Given the description of an element on the screen output the (x, y) to click on. 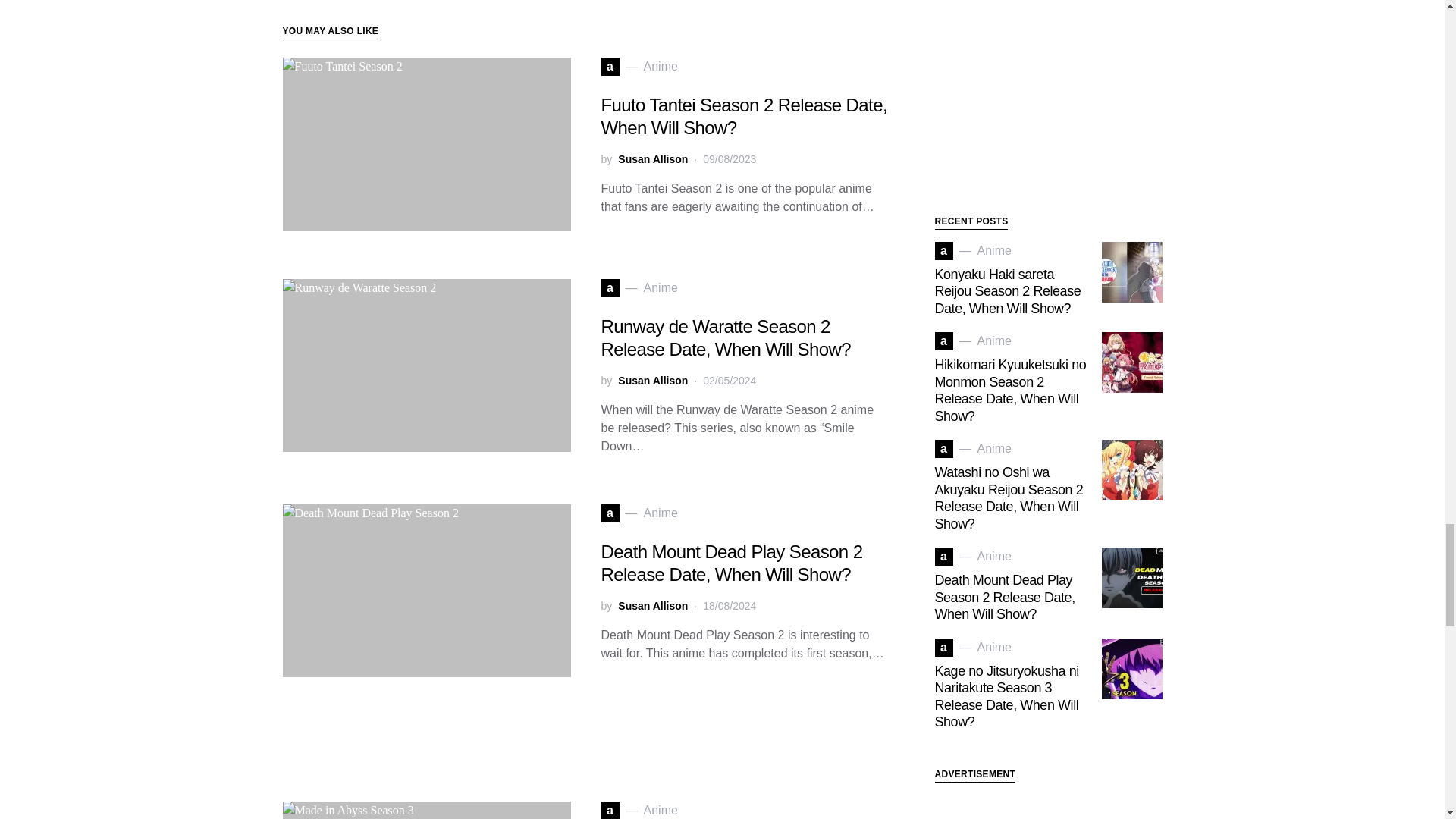
View all posts by Susan Allison (652, 381)
View all posts by Susan Allison (652, 605)
View all posts by Susan Allison (652, 159)
